Given the description of an element on the screen output the (x, y) to click on. 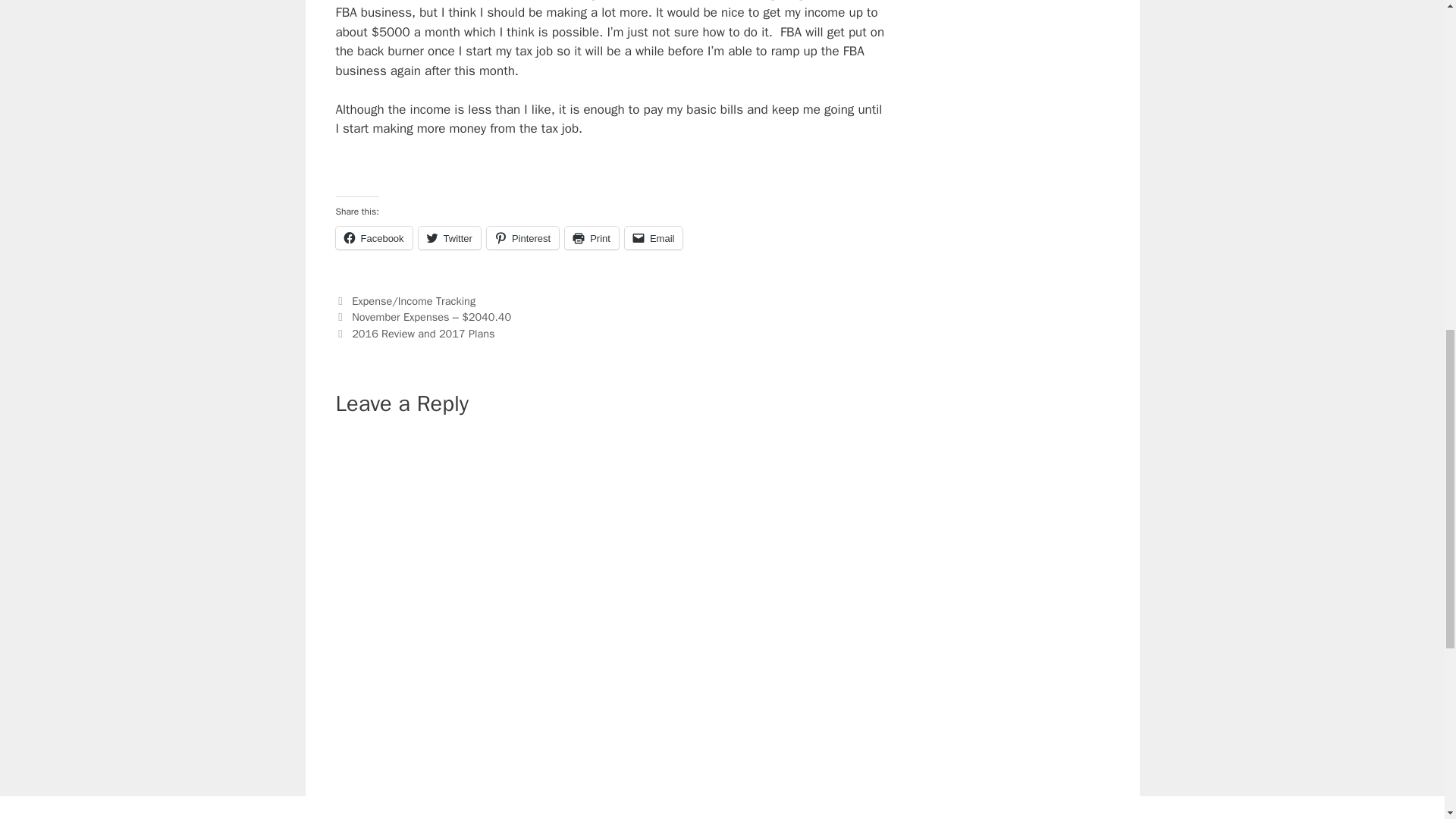
Pinterest (522, 237)
Facebook (373, 237)
Email (653, 237)
Click to email a link to a friend (653, 237)
Click to share on Twitter (449, 237)
2016 Review and 2017 Plans (423, 333)
Click to share on Facebook (373, 237)
Click to share on Pinterest (522, 237)
Print (591, 237)
Twitter (449, 237)
Click to print (591, 237)
